Given the description of an element on the screen output the (x, y) to click on. 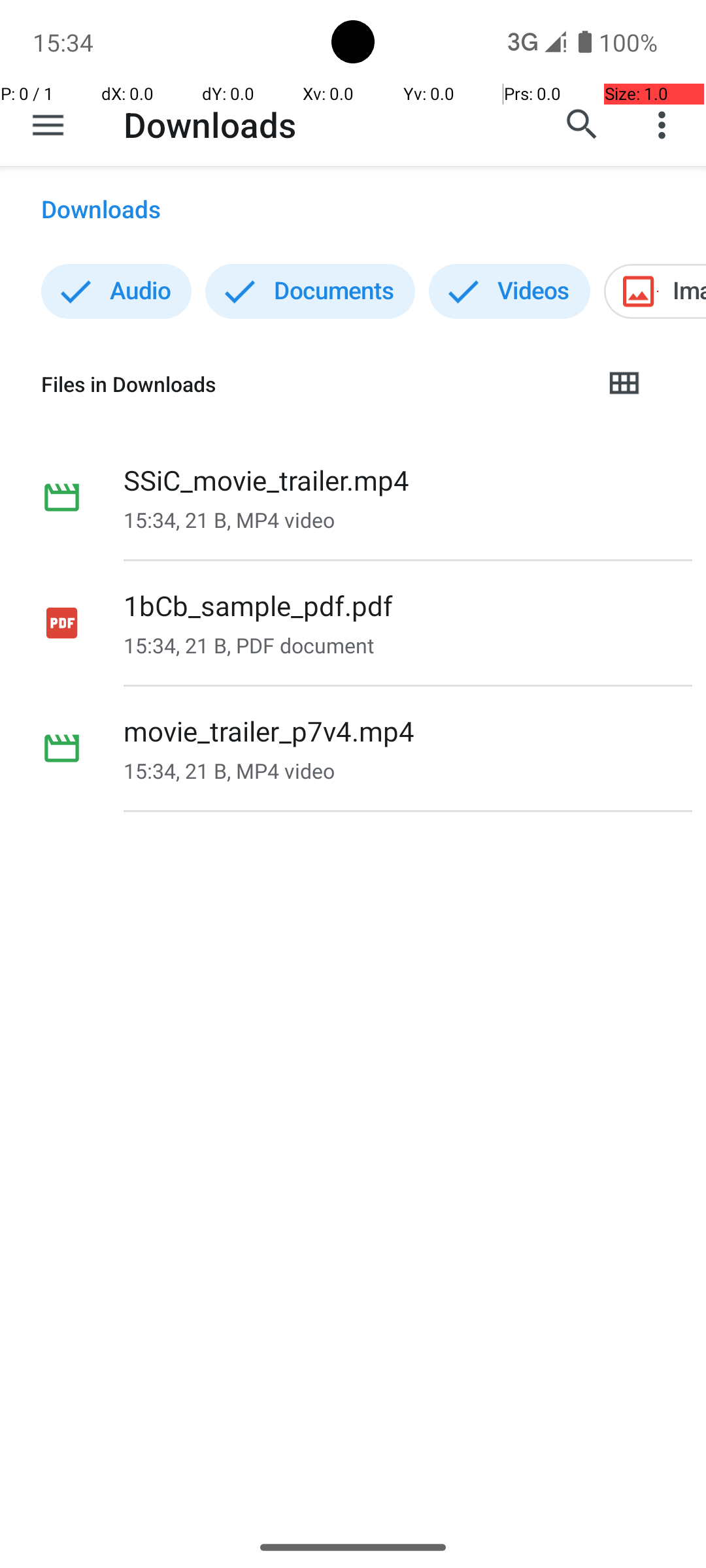
SSiC_movie_trailer.mp4 Element type: android.widget.TextView (266, 479)
15:34, 21 B, MP4 video Element type: android.widget.TextView (228, 519)
1bCb_sample_pdf.pdf Element type: android.widget.TextView (257, 604)
15:34, 21 B, PDF document Element type: android.widget.TextView (248, 645)
movie_trailer_p7v4.mp4 Element type: android.widget.TextView (268, 730)
